Given the description of an element on the screen output the (x, y) to click on. 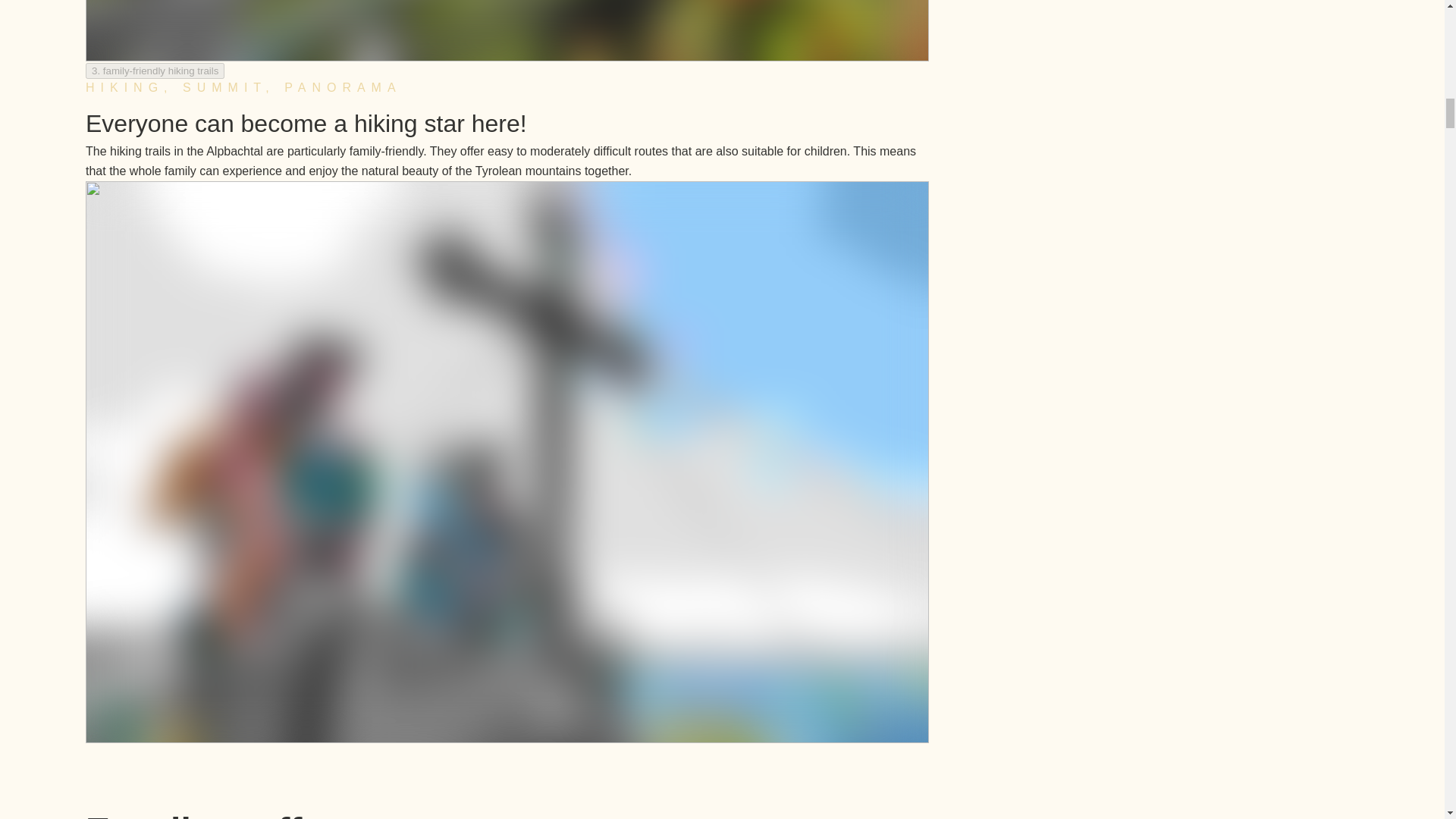
3. family-friendly hiking trails (154, 70)
